Given the description of an element on the screen output the (x, y) to click on. 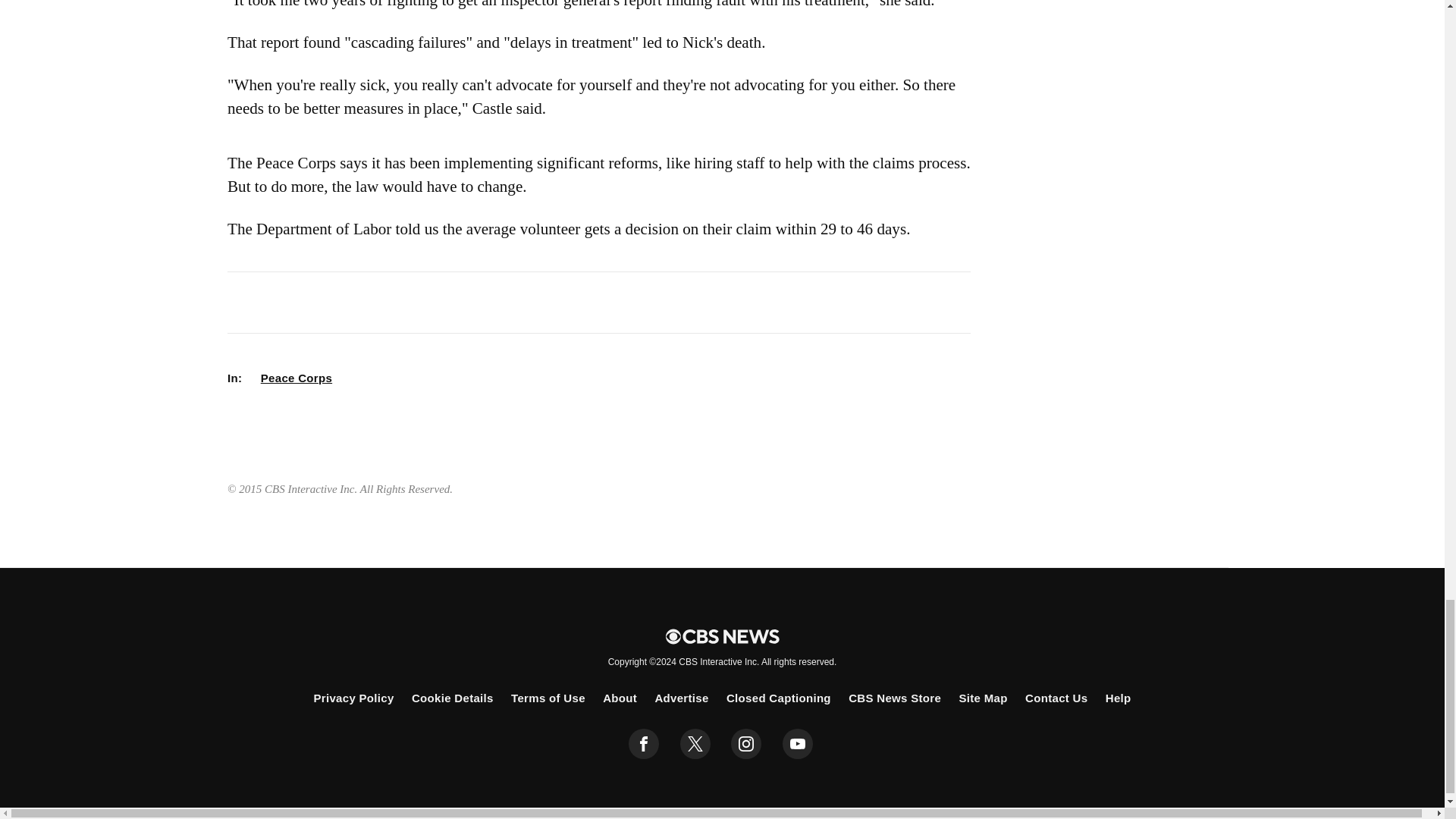
youtube (797, 743)
facebook (643, 743)
instagram (745, 743)
twitter (694, 743)
